Given the description of an element on the screen output the (x, y) to click on. 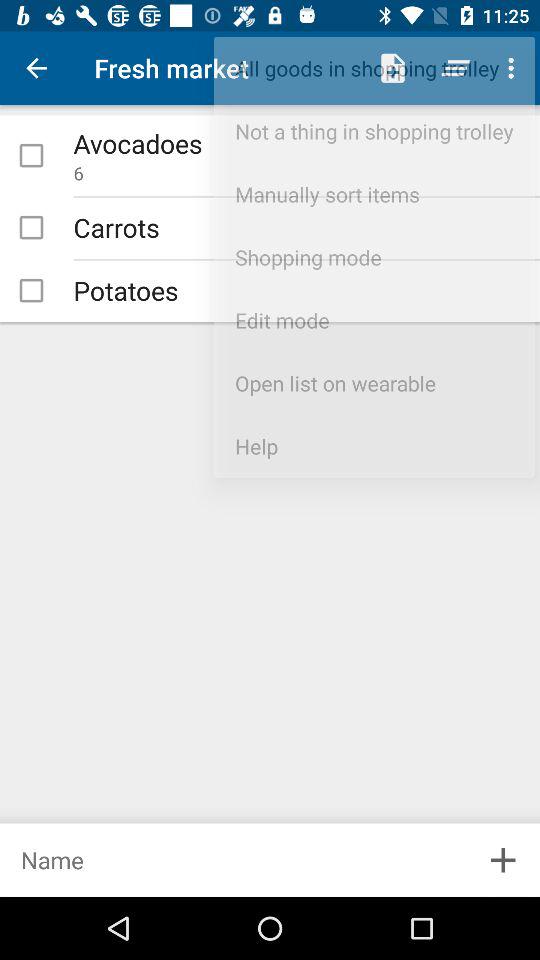
potatoes save tik button (31, 290)
